Given the description of an element on the screen output the (x, y) to click on. 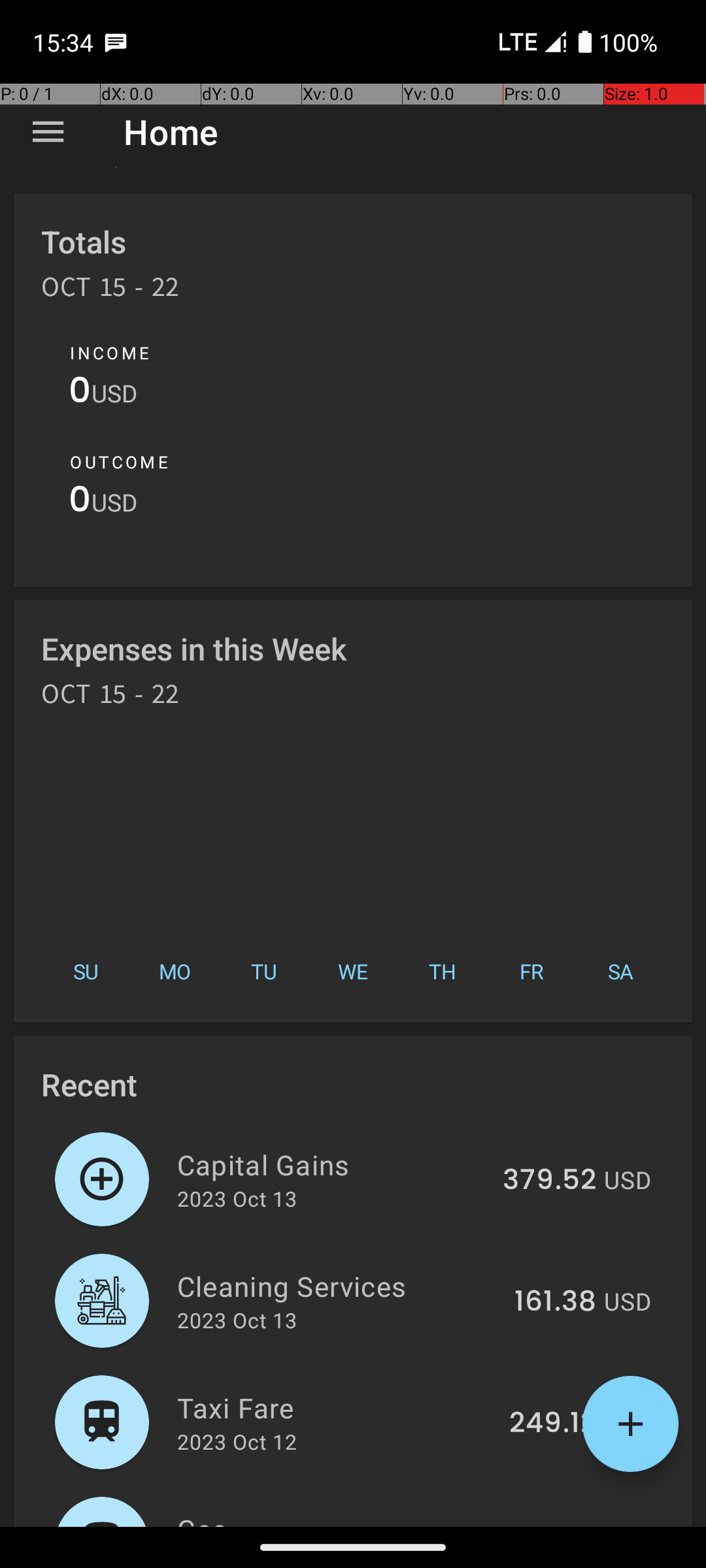
Capital Gains Element type: android.widget.TextView (332, 1164)
379.52 Element type: android.widget.TextView (549, 1180)
Cleaning Services Element type: android.widget.TextView (338, 1285)
161.38 Element type: android.widget.TextView (554, 1301)
Taxi Fare Element type: android.widget.TextView (335, 1407)
249.12 Element type: android.widget.TextView (552, 1423)
339.11 Element type: android.widget.TextView (555, 1524)
